Given the description of an element on the screen output the (x, y) to click on. 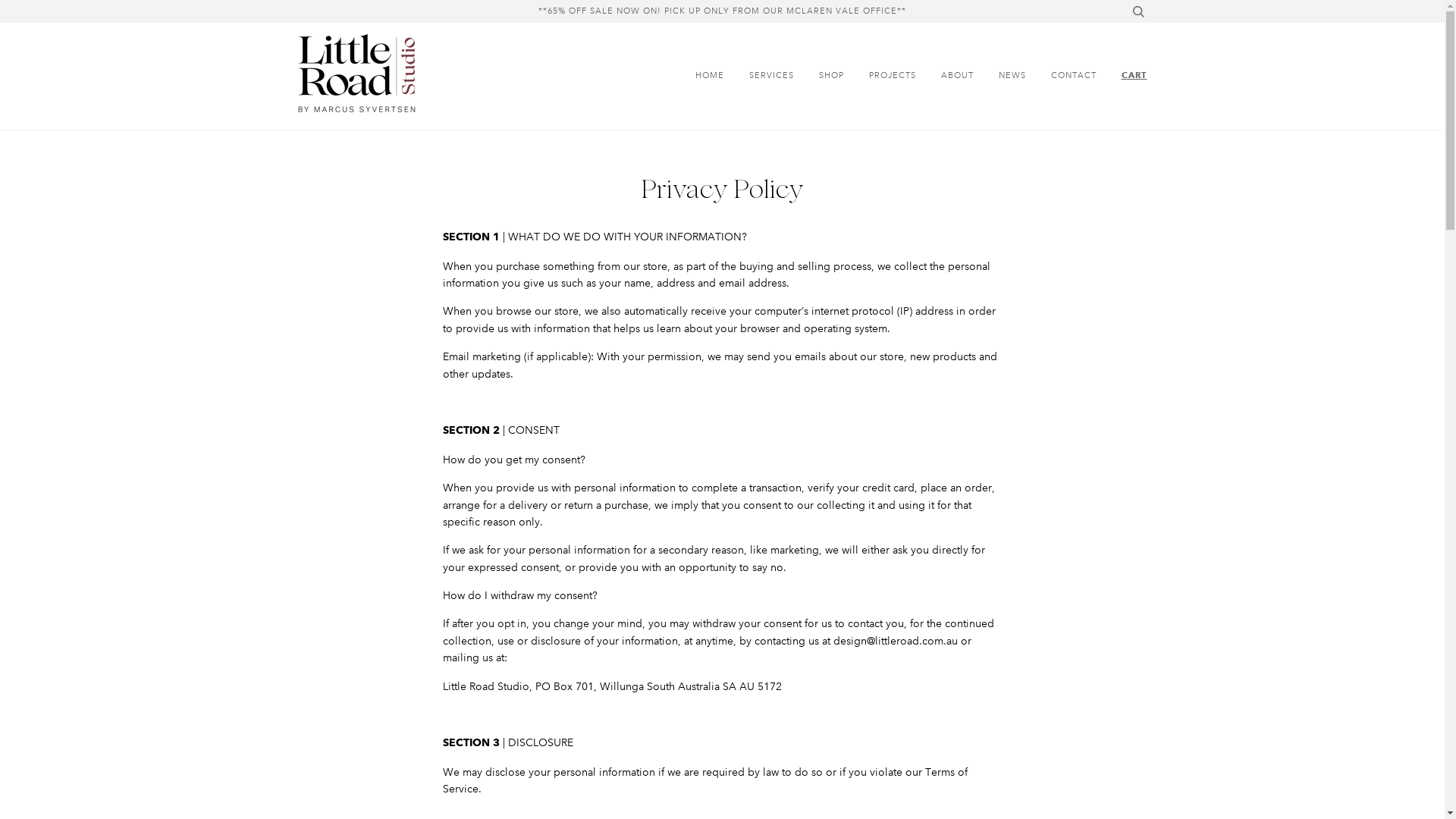
SHOP Element type: text (820, 76)
CONTACT Element type: text (1062, 76)
ABOUT Element type: text (944, 76)
HOME Element type: text (705, 76)
CART Element type: text (1122, 75)
PROJECTS Element type: text (881, 76)
SERVICES Element type: text (759, 76)
Search Element type: hover (1137, 11)
NEWS Element type: text (1000, 76)
